Given the description of an element on the screen output the (x, y) to click on. 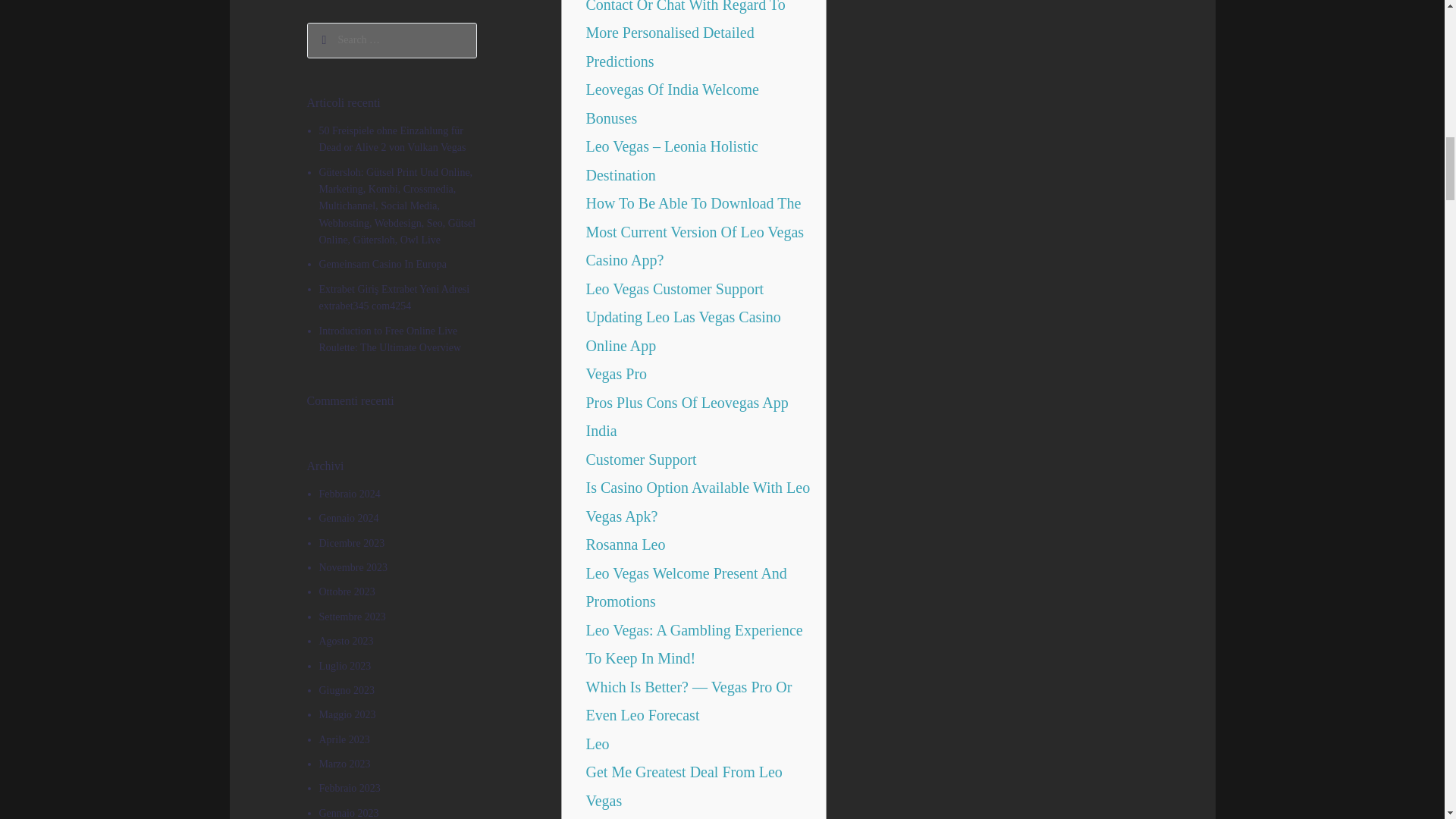
Leo Vegas Welcome Present And Promotions (685, 587)
Vegas Pro (615, 373)
Leo Vegas Customer Support (673, 288)
Is Casino Option Available With Leo Vegas Apk? (697, 501)
Rosanna Leo (625, 544)
Updating Leo Las Vegas Casino Online App (682, 330)
Leo Vegas: A Gambling Experience To Keep In Mind! (693, 644)
Leovegas Of India Welcome Bonuses (671, 103)
Leo (596, 743)
